Given the description of an element on the screen output the (x, y) to click on. 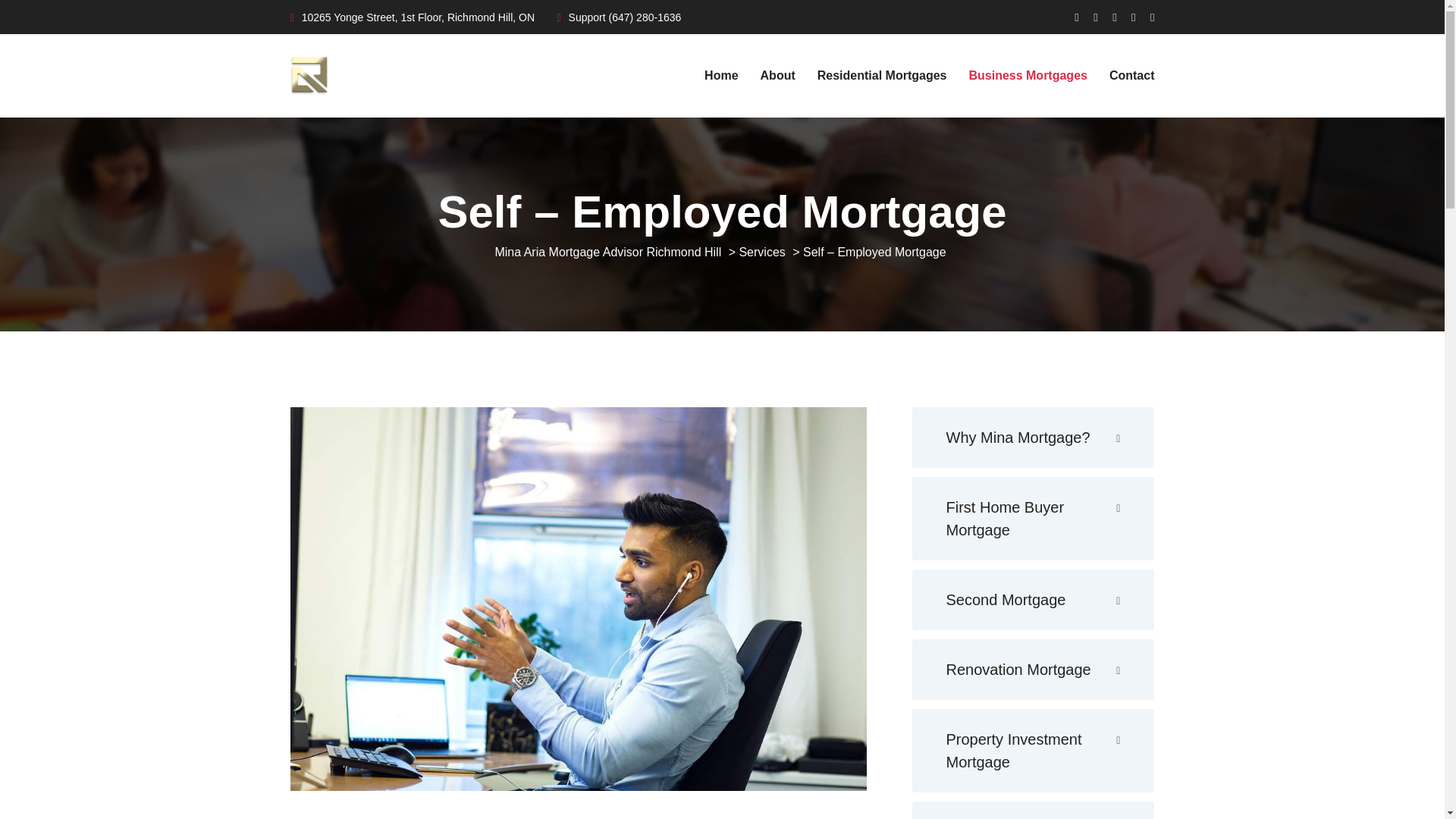
Home (721, 75)
About (777, 75)
Home (721, 75)
Residential Mortgages (881, 75)
